Given the description of an element on the screen output the (x, y) to click on. 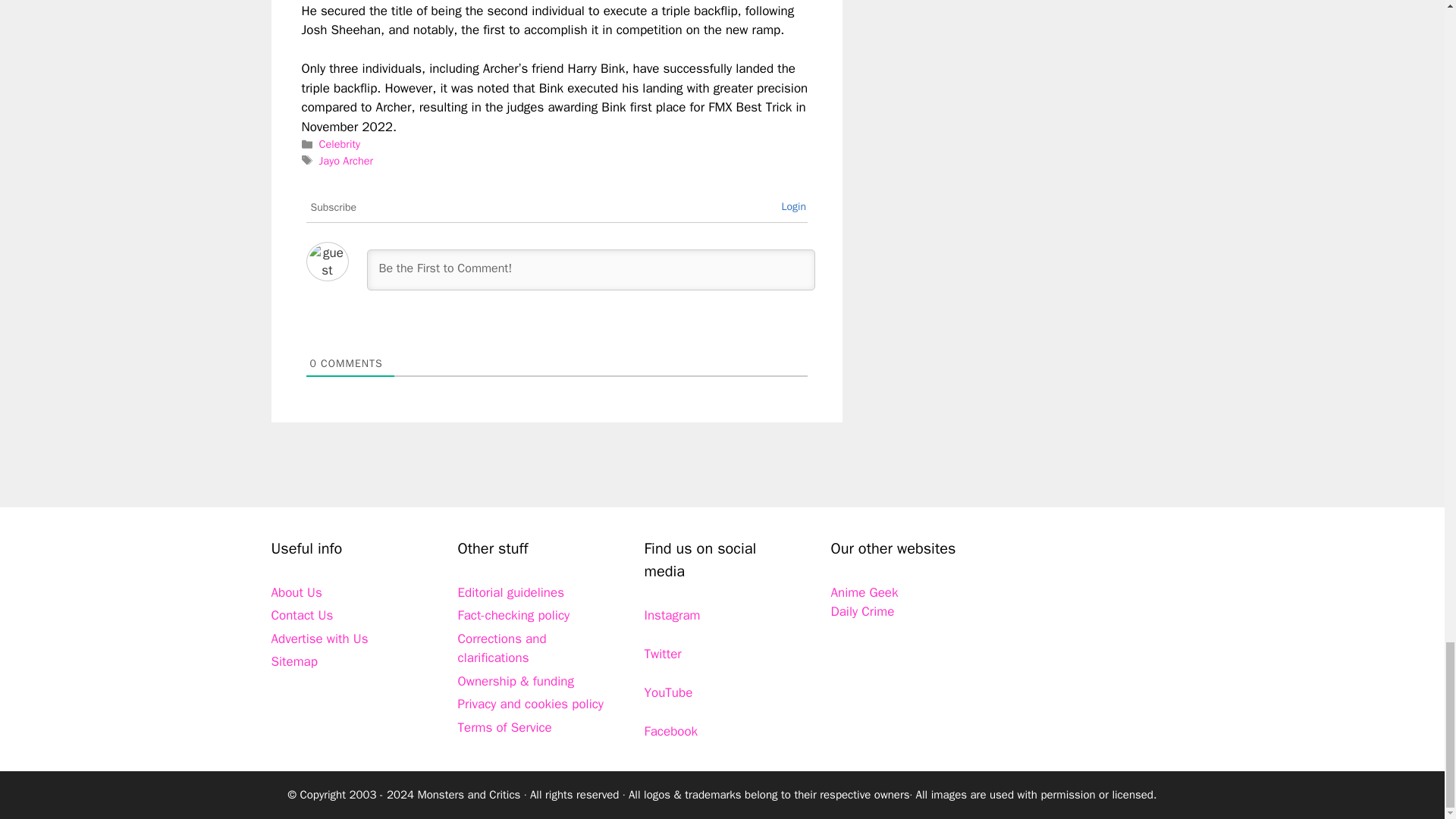
Login (793, 205)
Sitemap (293, 661)
Privacy and cookies policy (531, 703)
Advertise with Us (319, 638)
Celebrity (338, 143)
Contact Us (301, 615)
Editorial guidelines (511, 592)
Corrections and clarifications (502, 648)
Fact-checking policy (514, 615)
About Us (295, 592)
